Given the description of an element on the screen output the (x, y) to click on. 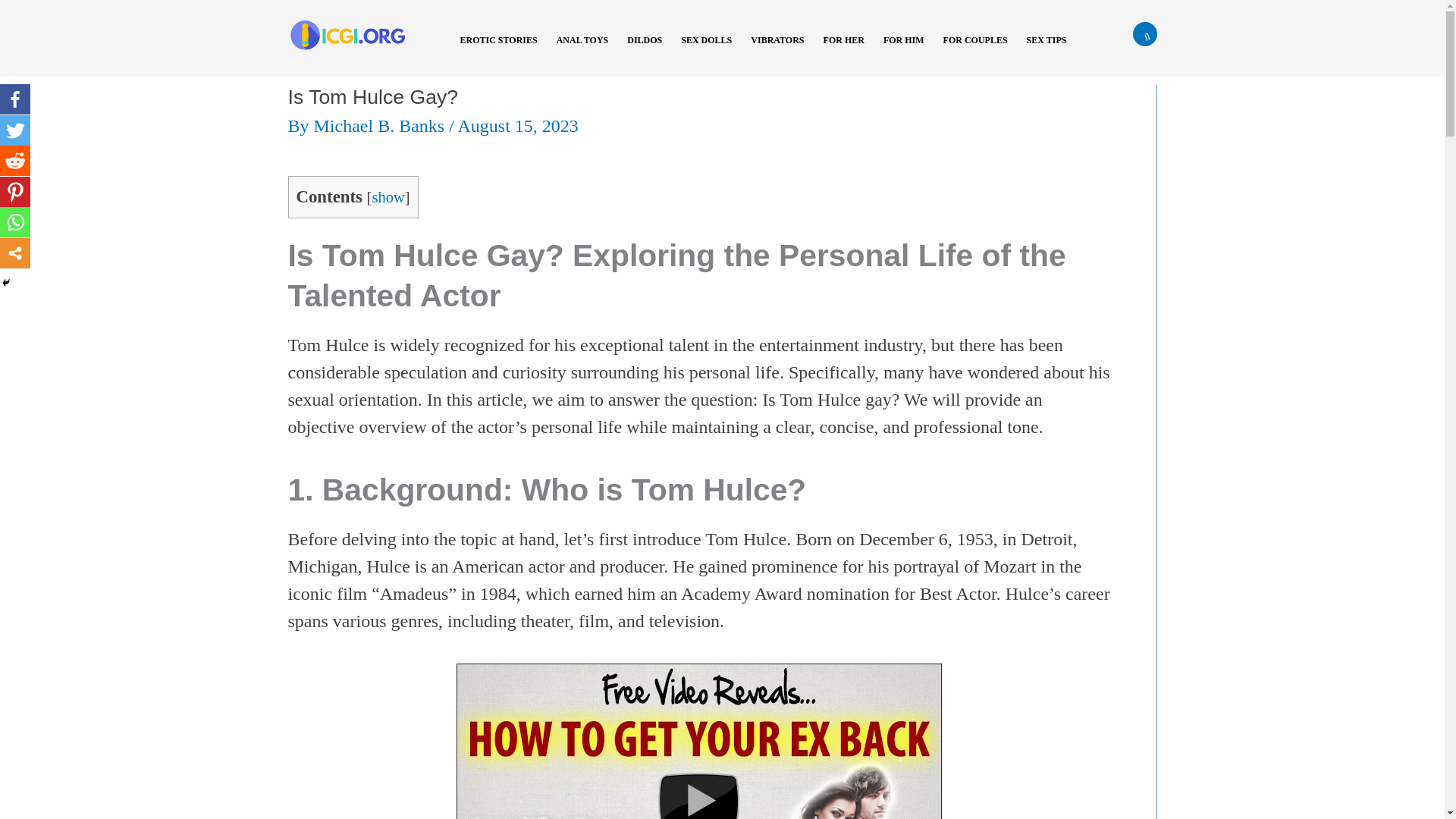
EROTIC STORIES (504, 50)
FOR HIM (909, 50)
Pinterest (15, 191)
FOR COUPLES (981, 50)
Michael B. Banks (381, 125)
Whatsapp (15, 222)
View all posts by Michael B. Banks (381, 125)
SEX DOLLS (711, 50)
Reddit (15, 160)
More (15, 253)
